Given the description of an element on the screen output the (x, y) to click on. 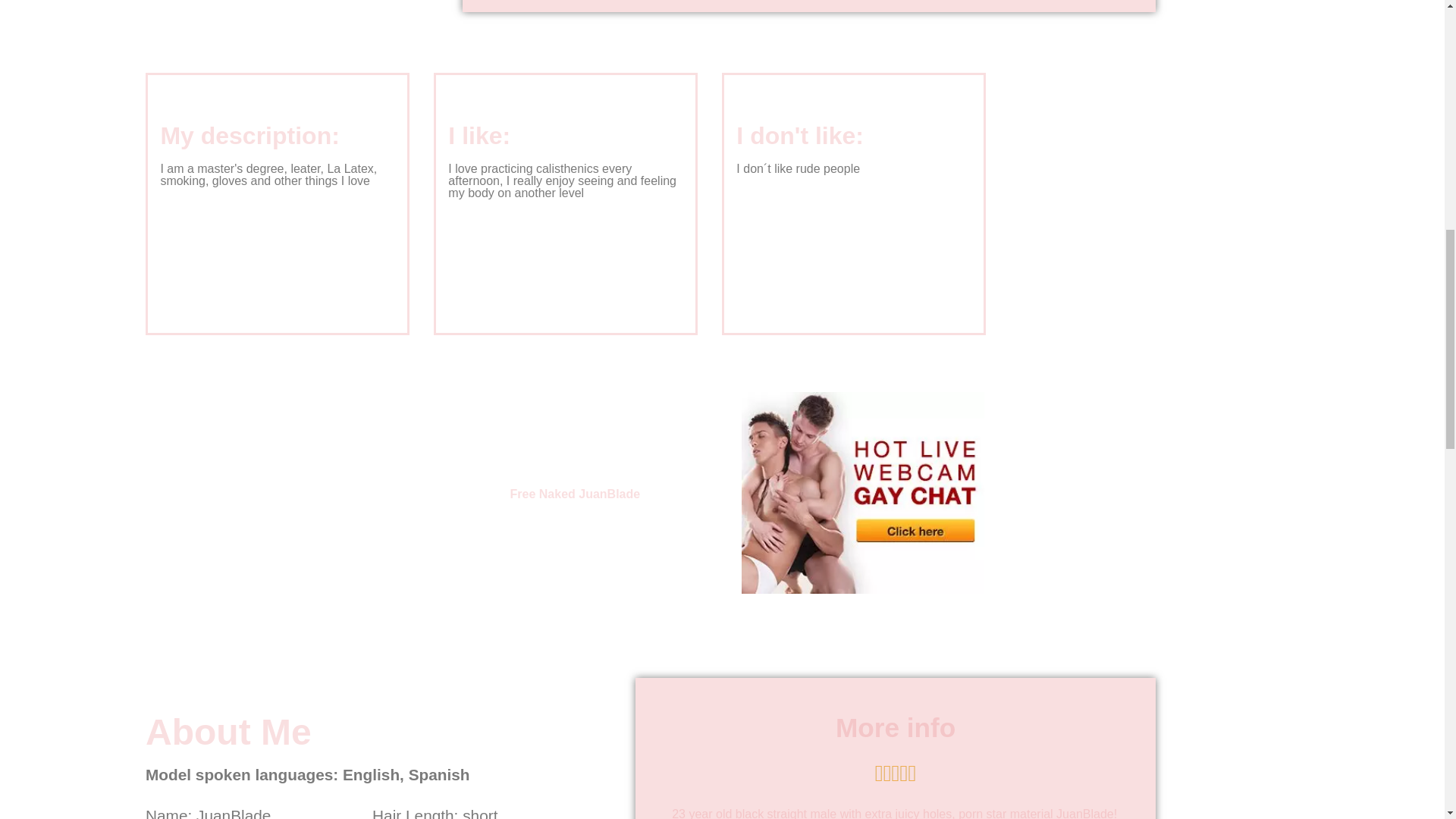
Free Naked JuanBlade (575, 493)
Free Naked JuanBlade (575, 493)
Gays (862, 589)
